Given the description of an element on the screen output the (x, y) to click on. 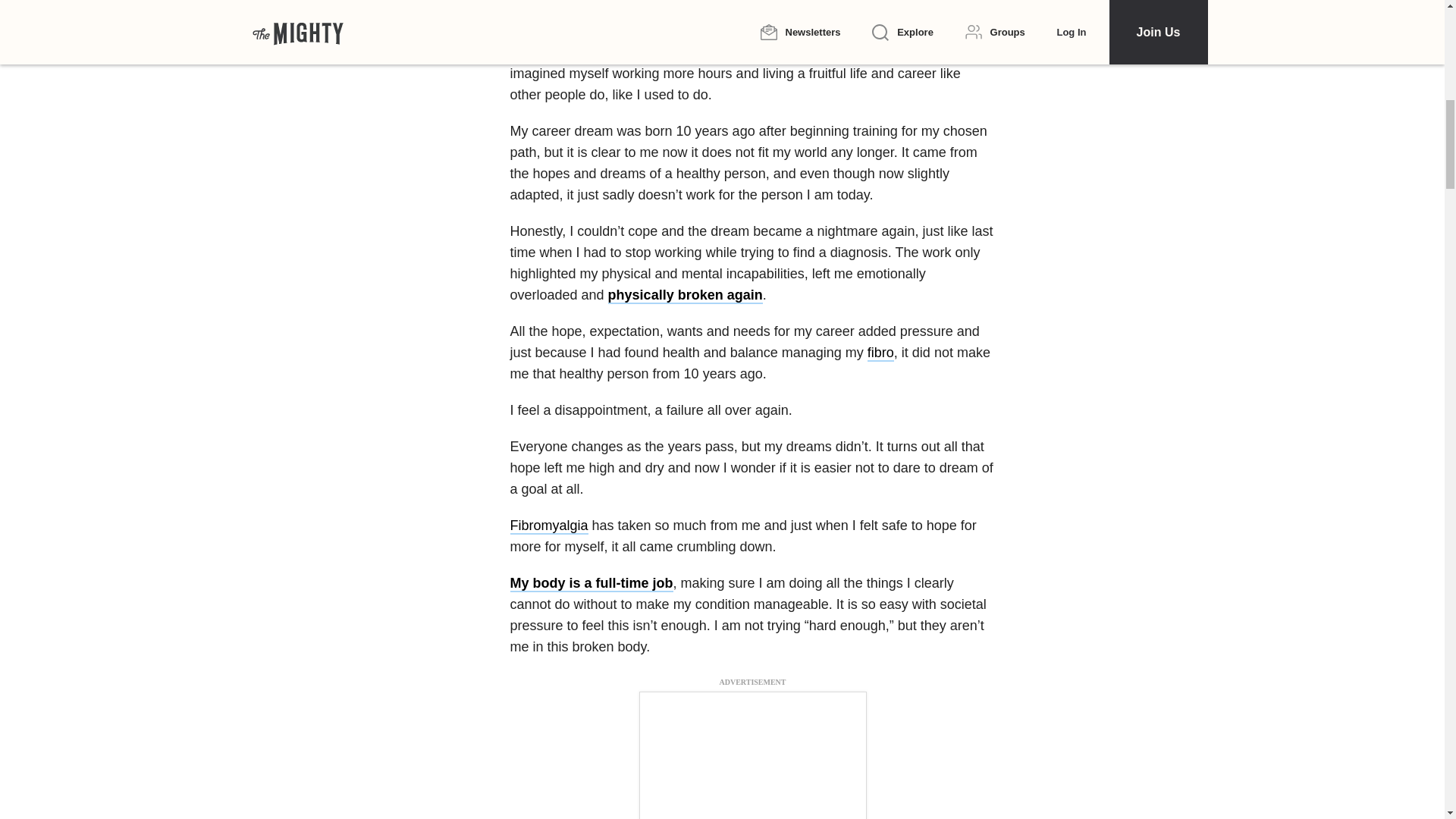
My body is a full-time job (590, 583)
physically broken again (685, 295)
Fibromyalgia (548, 525)
fibro (880, 352)
